Given the description of an element on the screen output the (x, y) to click on. 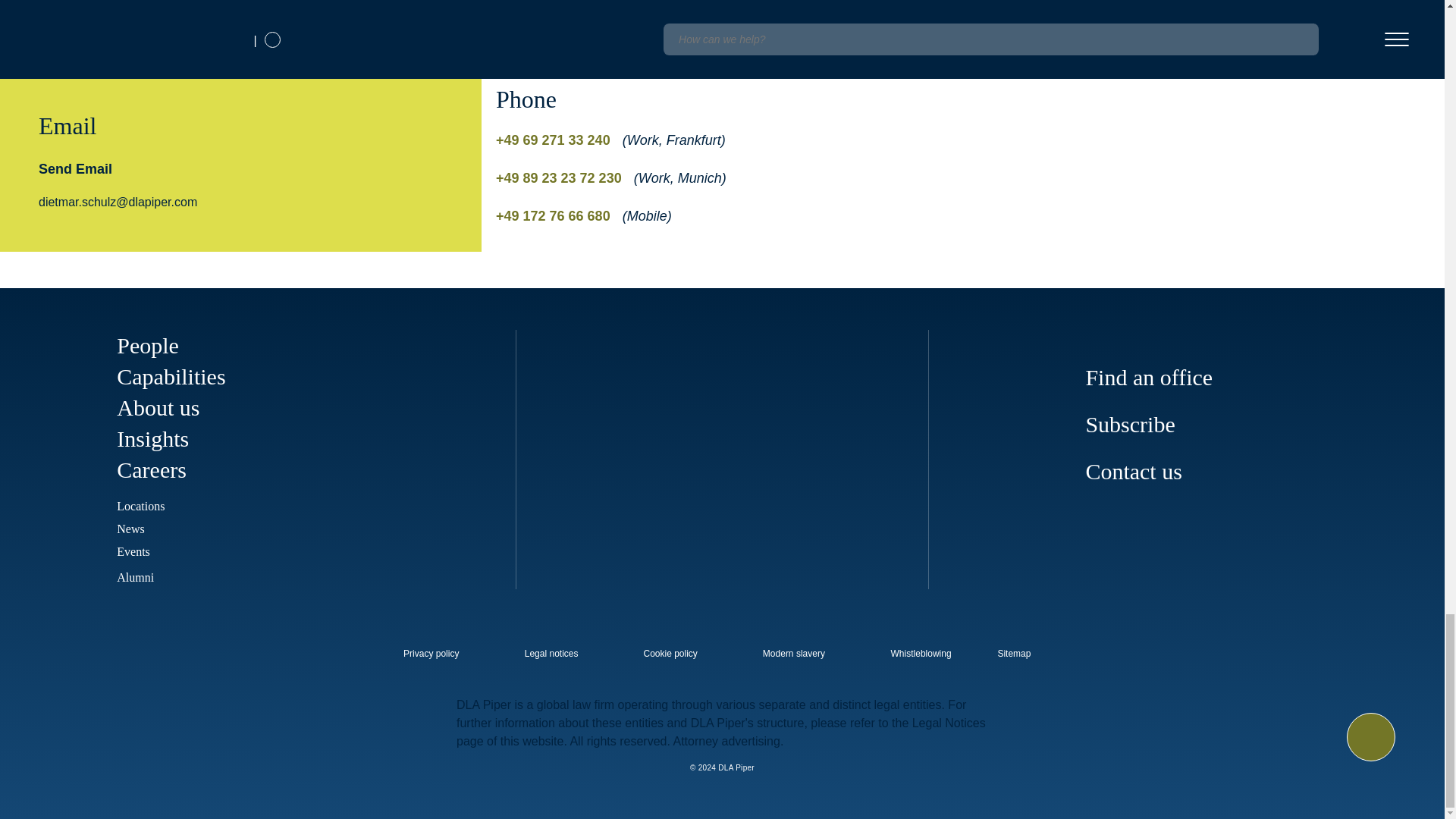
internal (549, 653)
internal (430, 653)
internal (670, 653)
external (1024, 649)
internal (793, 653)
internal (920, 653)
Send Email (75, 168)
